Given the description of an element on the screen output the (x, y) to click on. 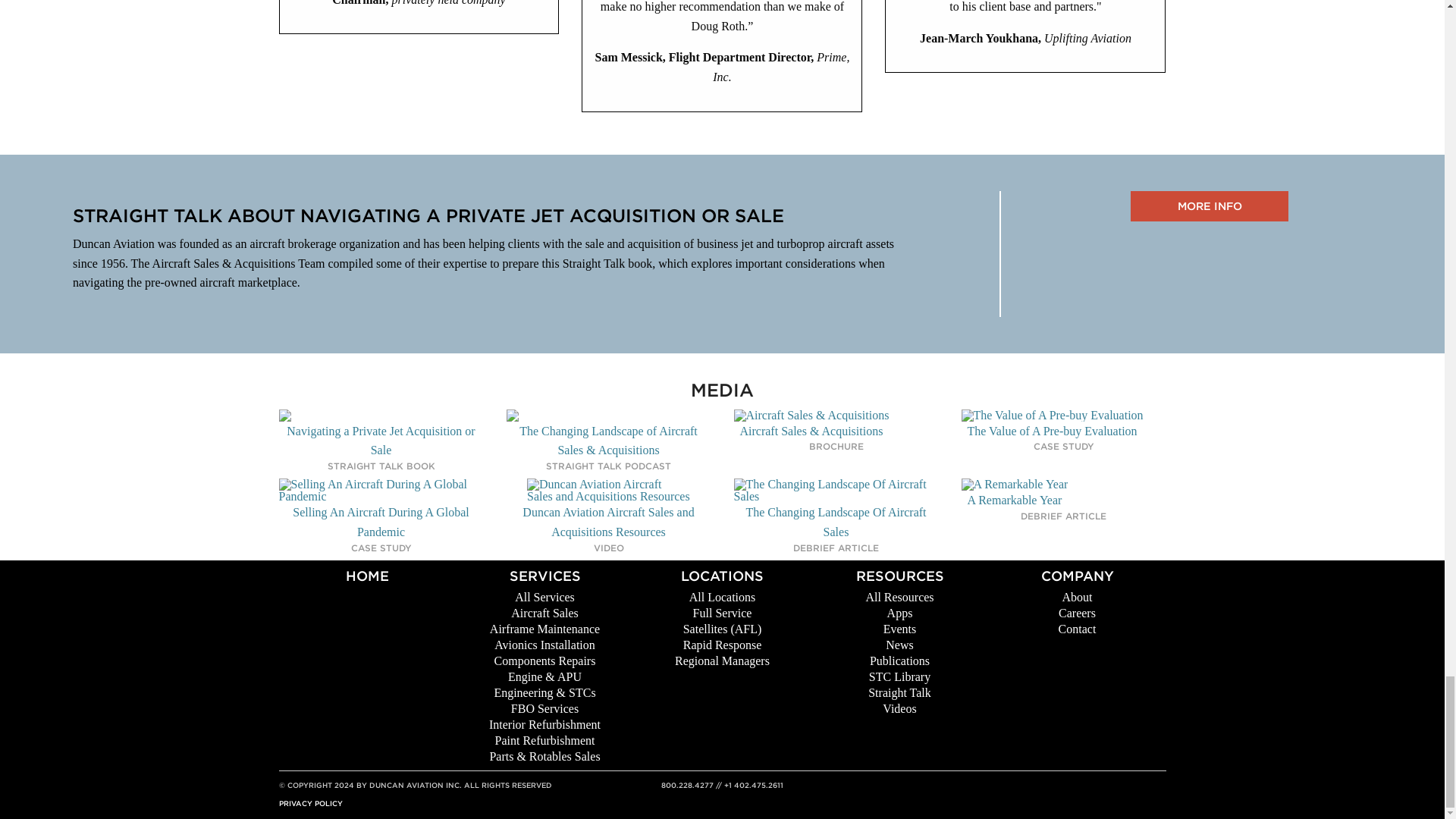
The Changing Landscape Of Aircraft Sales (836, 509)
A Remarkable Year (1014, 494)
Selling An Aircraft During A Global Pandemic Case Study (381, 509)
The Value of A Pre-buy Evaluation Case Study (1051, 425)
